Given the description of an element on the screen output the (x, y) to click on. 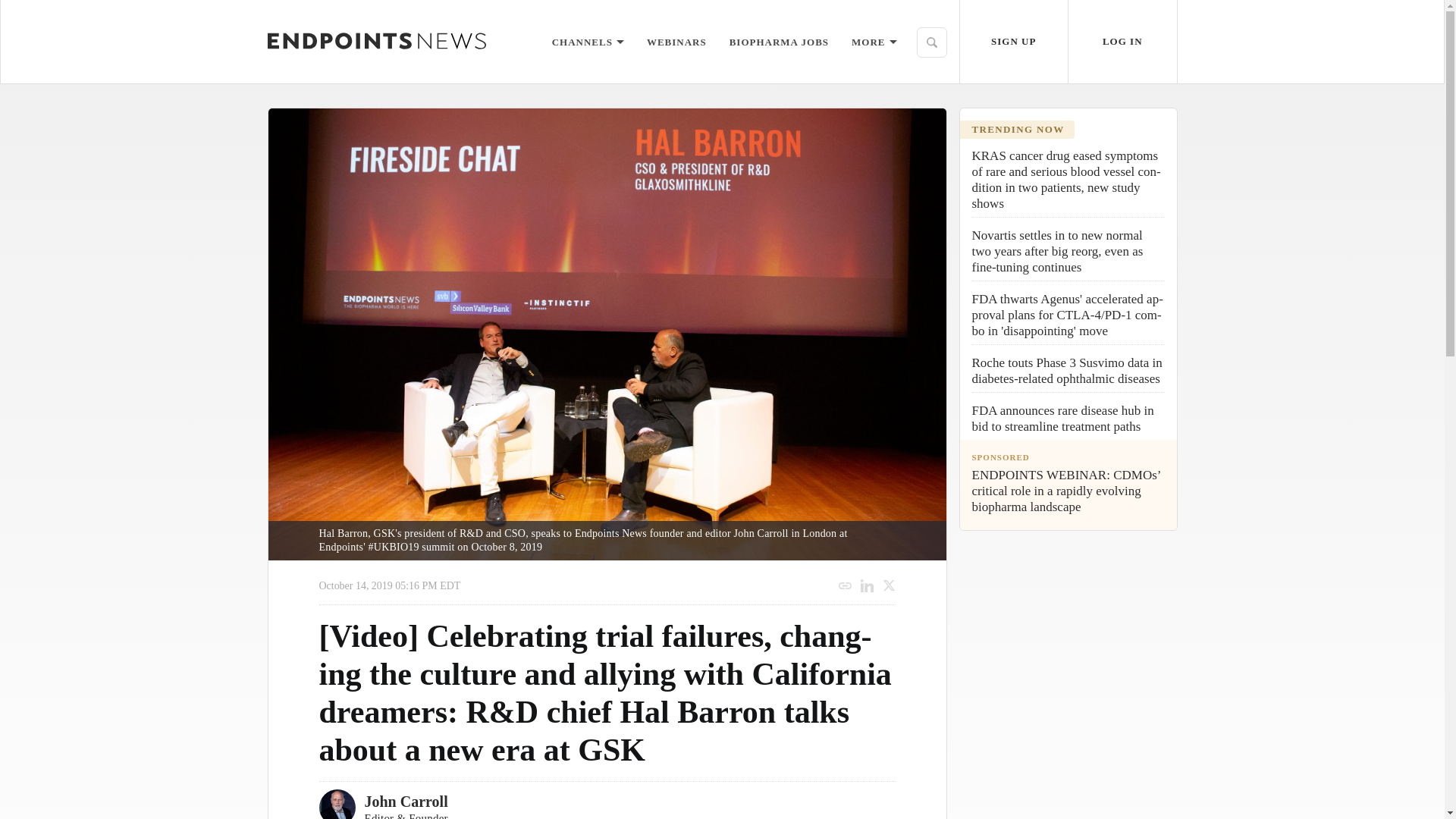
BIOPHARMA JOBS (778, 41)
WEBINARS (676, 41)
